Given the description of an element on the screen output the (x, y) to click on. 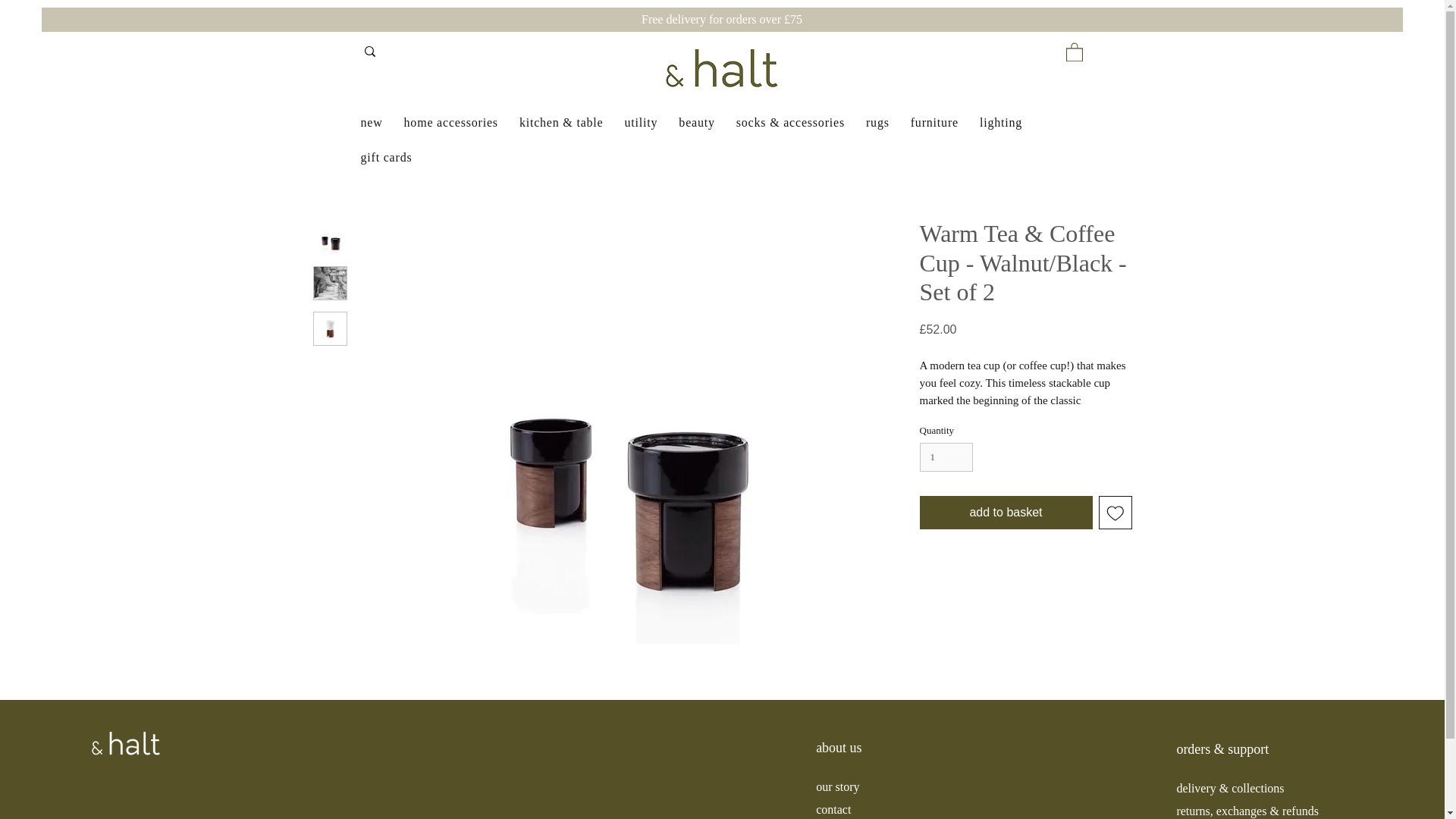
1 (945, 457)
new (371, 122)
